Given the description of an element on the screen output the (x, y) to click on. 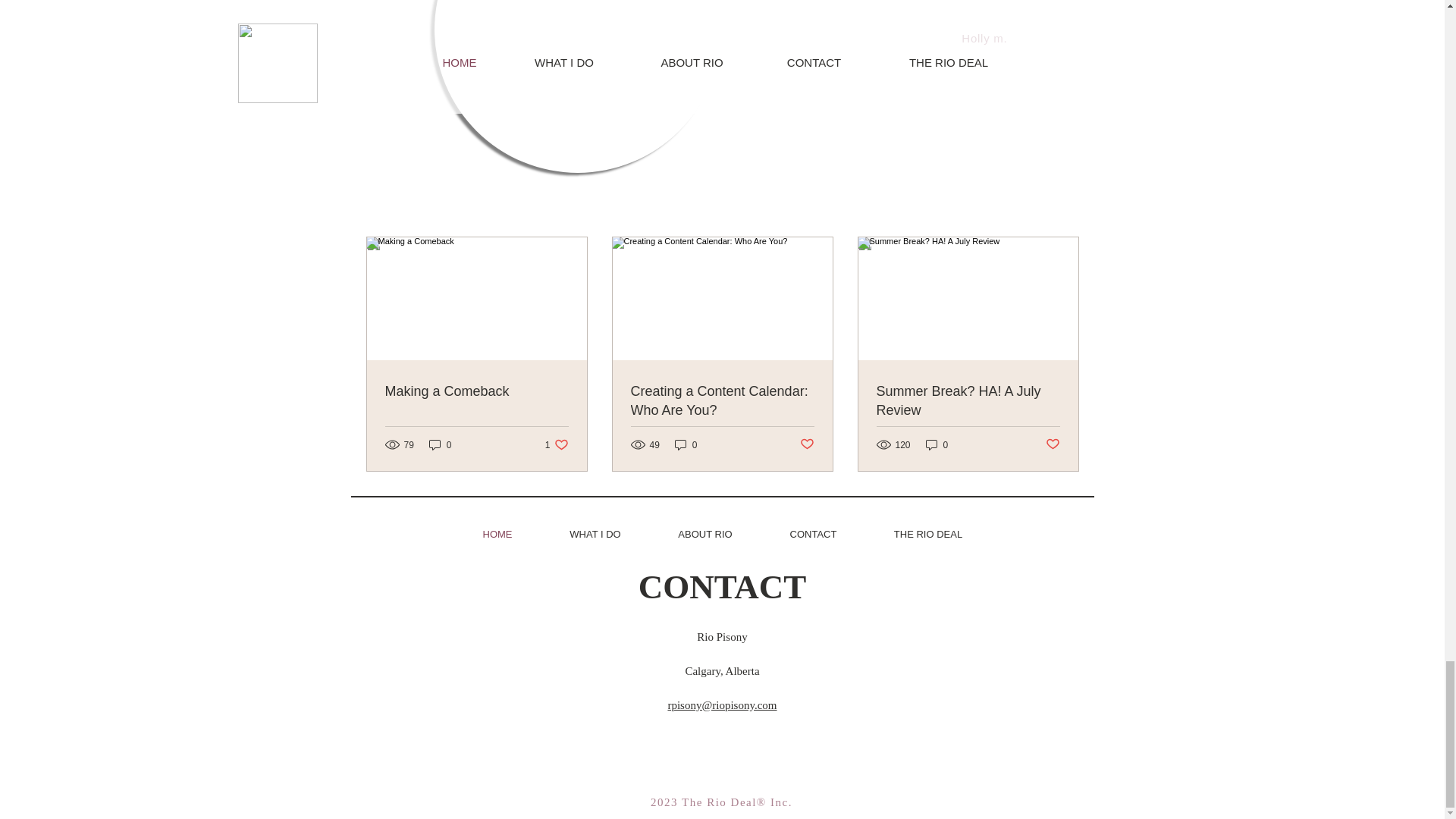
CONTACT (813, 534)
WHAT I DO (595, 534)
0 (937, 444)
Post not marked as liked (1052, 444)
0 (440, 444)
ABOUT RIO (704, 534)
Creating a Content Calendar: Who Are You? (556, 444)
THE RIO DEAL (721, 401)
Post not marked as liked (928, 534)
